Given the description of an element on the screen output the (x, y) to click on. 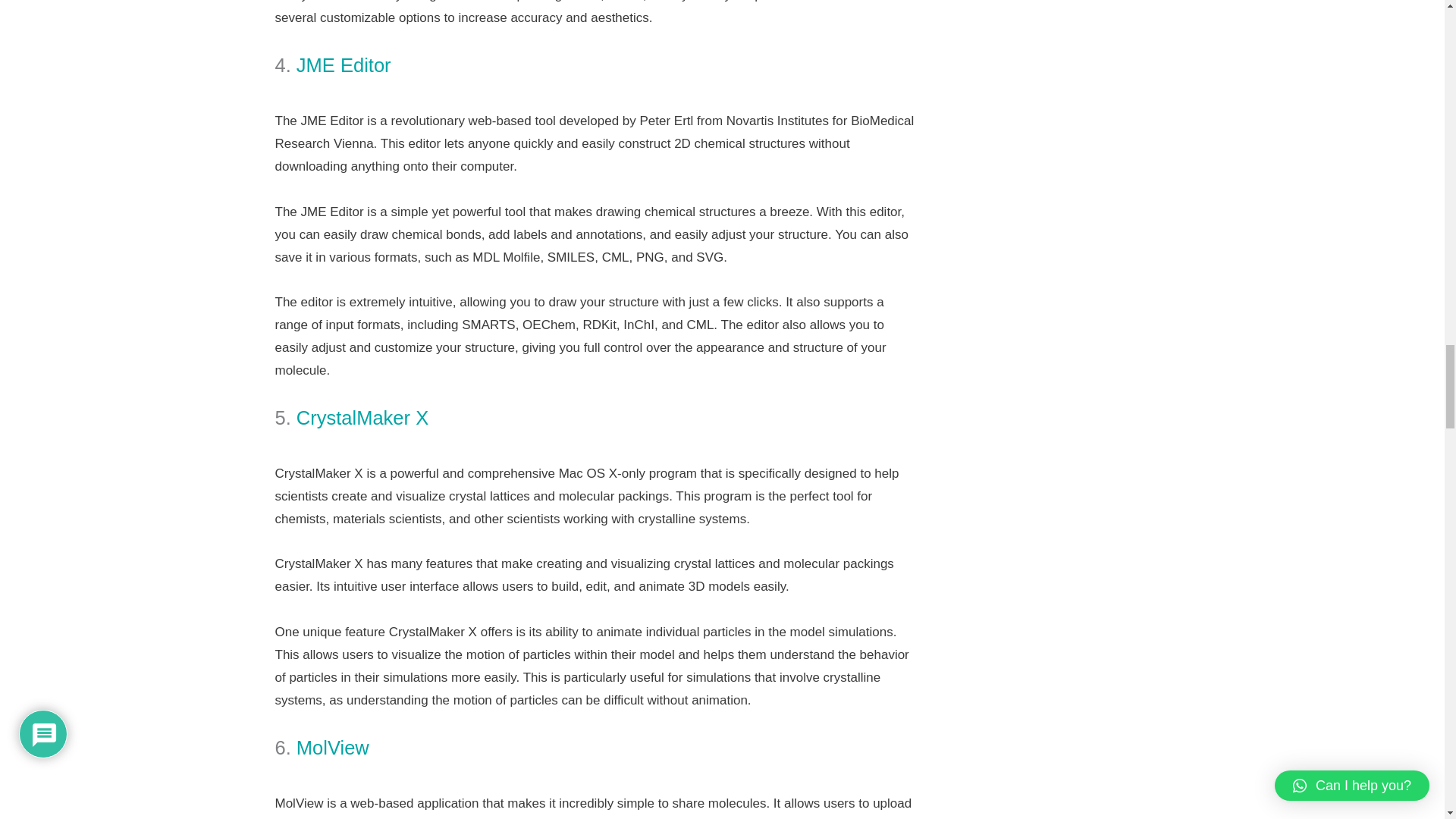
JME Editor  (346, 65)
CrystalMaker X (362, 417)
MolView (333, 747)
